Given the description of an element on the screen output the (x, y) to click on. 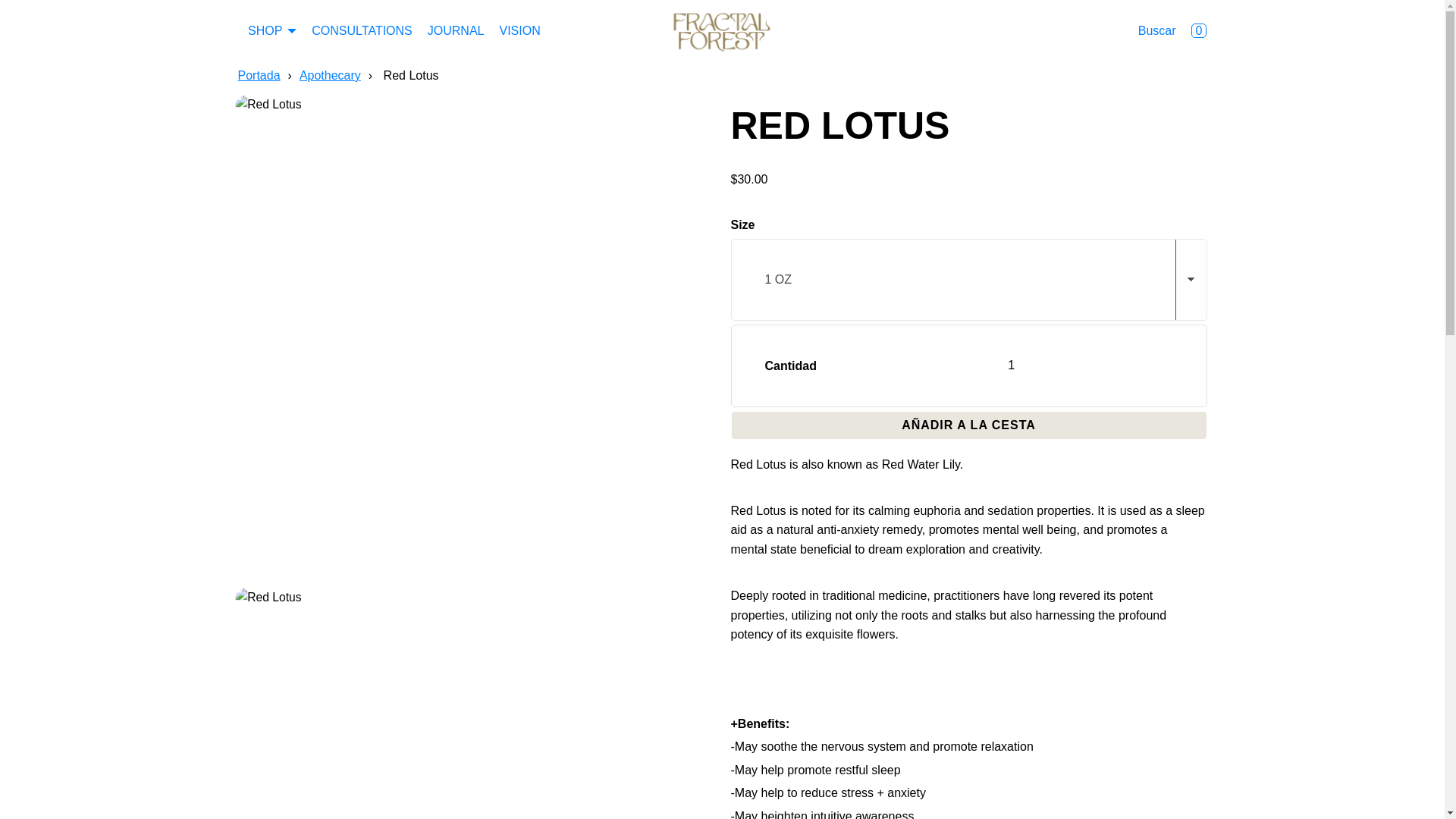
1 (1011, 365)
Portada (260, 75)
